Given the description of an element on the screen output the (x, y) to click on. 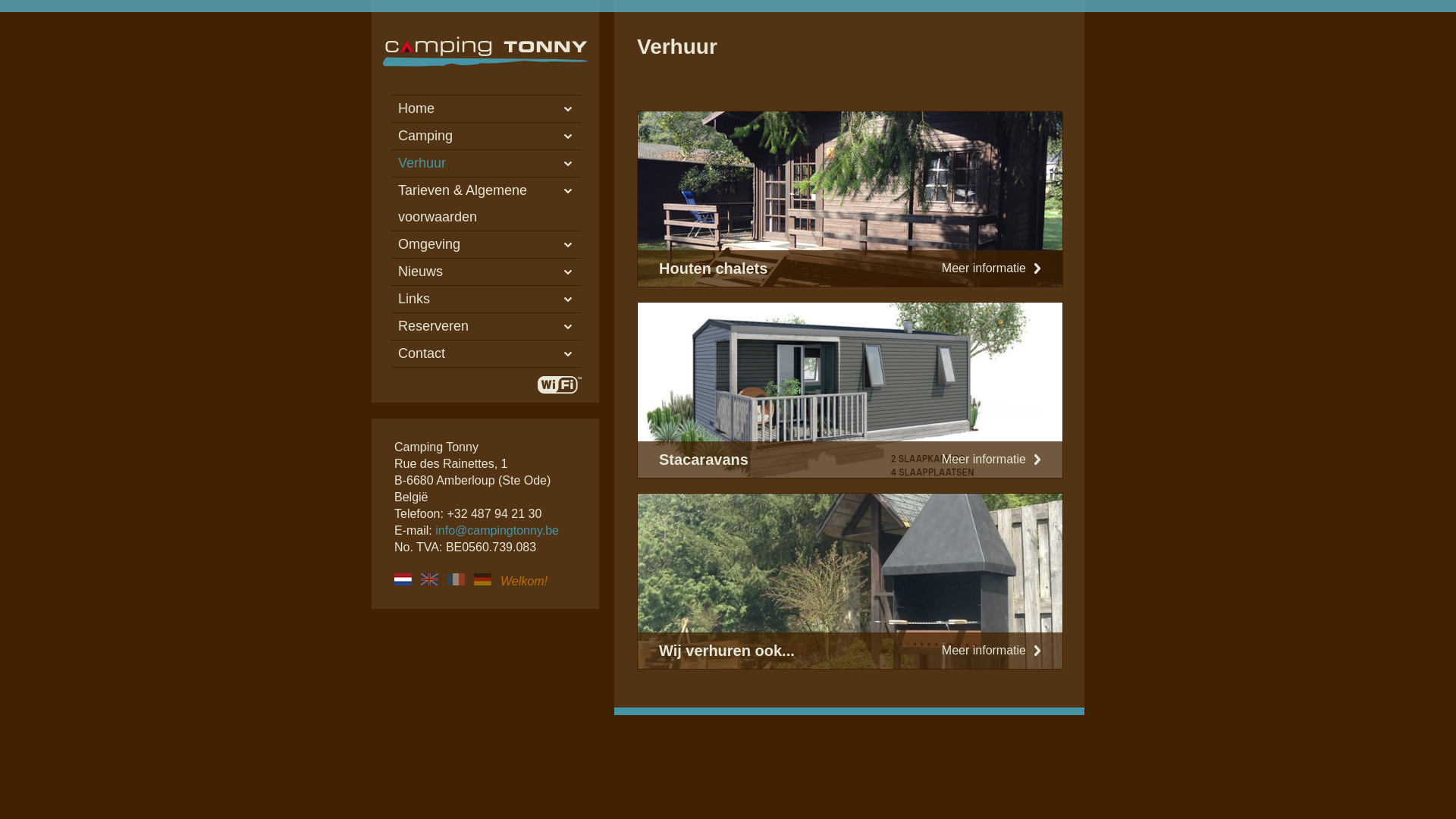
Nieuws Element type: text (485, 271)
info@campingtonny.be Element type: text (496, 530)
Home Element type: text (485, 108)
Omgeving Element type: text (485, 244)
Verhuur Element type: text (485, 163)
Meer informatie Element type: text (991, 459)
Links Element type: text (485, 298)
Meer informatie Element type: text (991, 650)
Camping Element type: text (485, 135)
Reserveren Element type: text (485, 326)
Meer informatie Element type: text (991, 268)
Welkom! Element type: text (402, 579)
Tarieven & Algemene voorwaarden Element type: text (485, 203)
Contact Element type: text (485, 353)
